Given the description of an element on the screen output the (x, y) to click on. 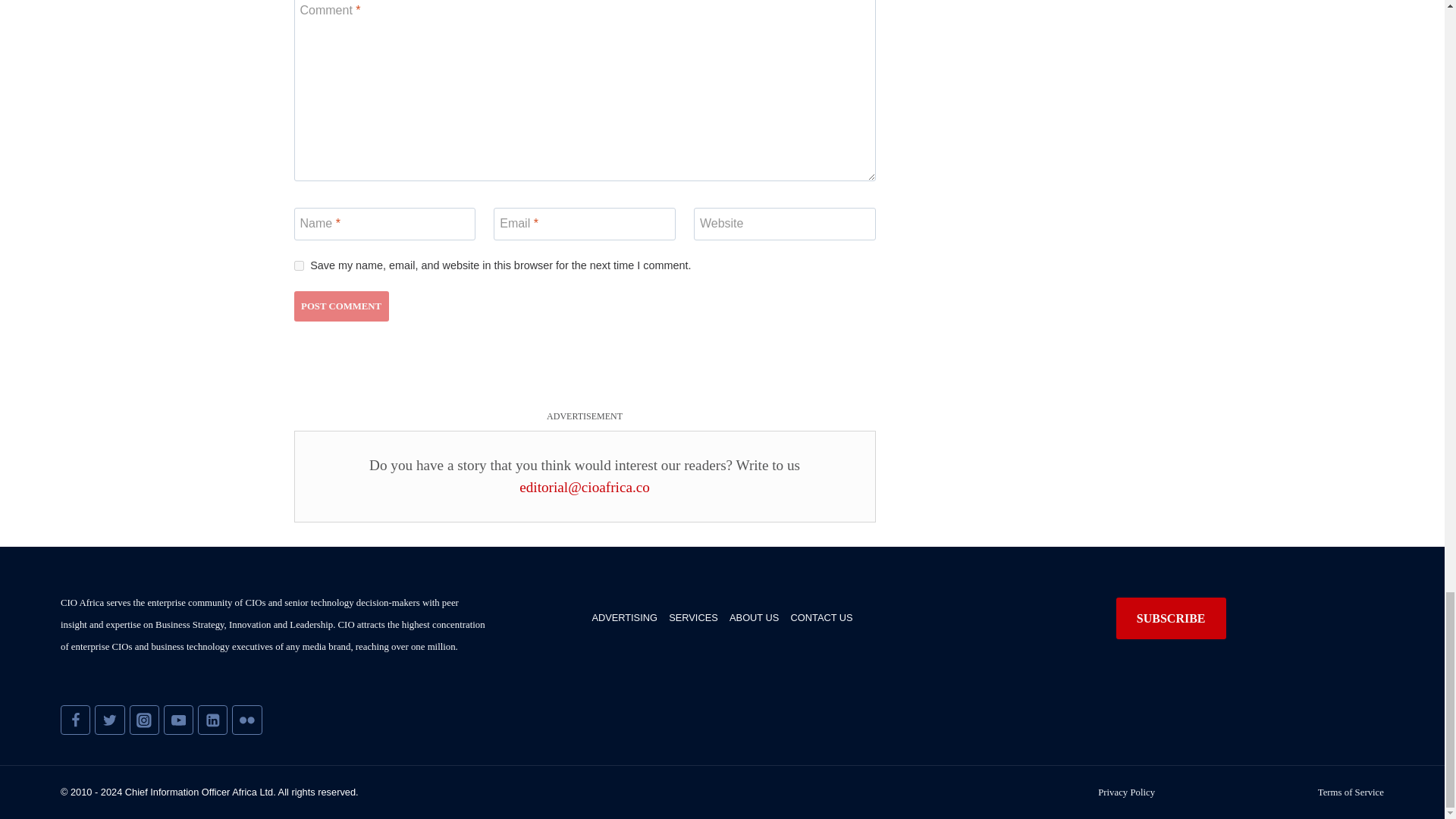
Post Comment (341, 306)
Post Comment (341, 306)
yes (299, 266)
